Given the description of an element on the screen output the (x, y) to click on. 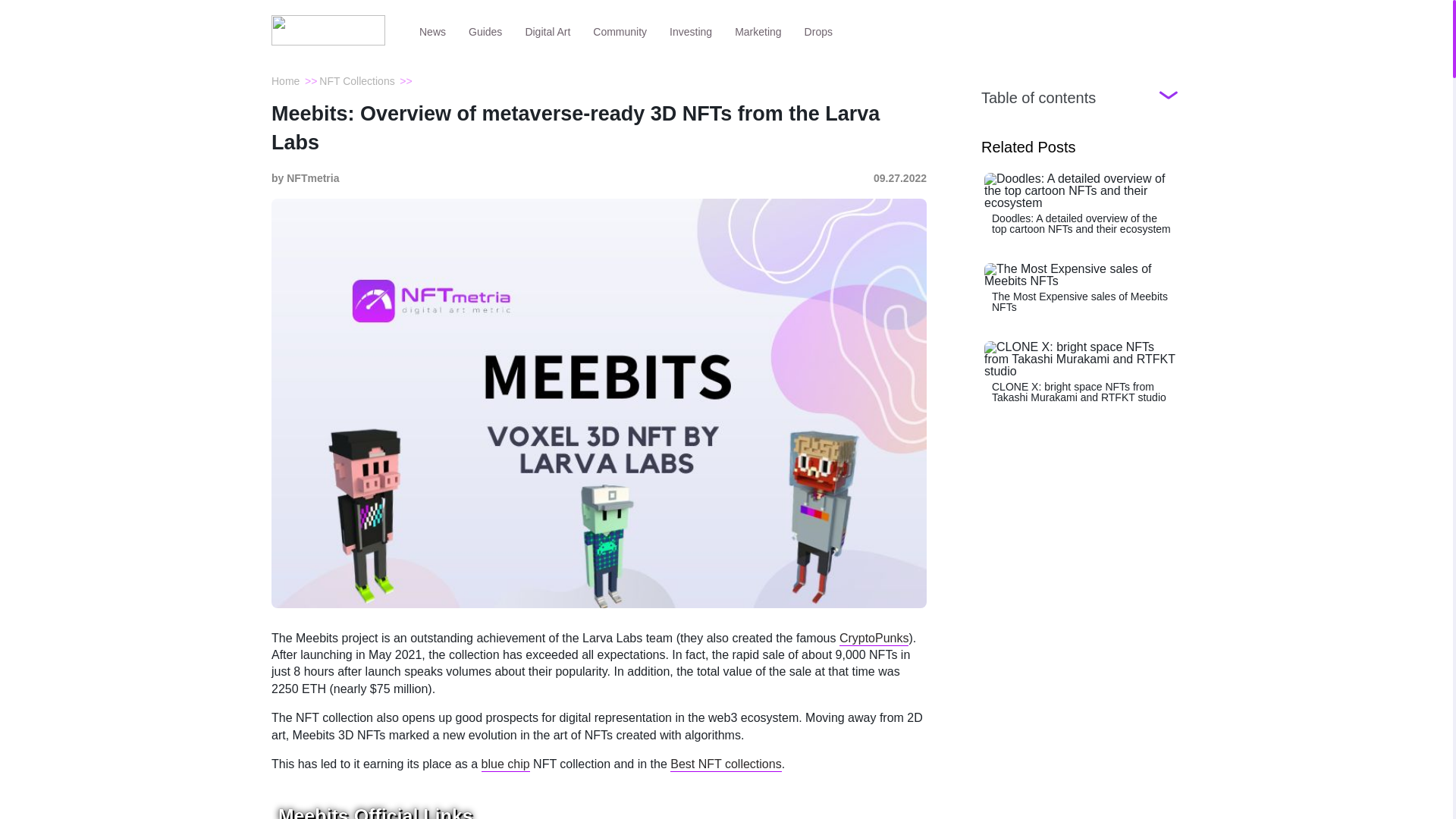
Investing (690, 30)
NFT Collections (356, 80)
Guides (485, 30)
Author's (304, 178)
Digital Art (547, 30)
Community (619, 30)
Home (284, 80)
Marketing (757, 30)
by NFTmetria (304, 178)
